Given the description of an element on the screen output the (x, y) to click on. 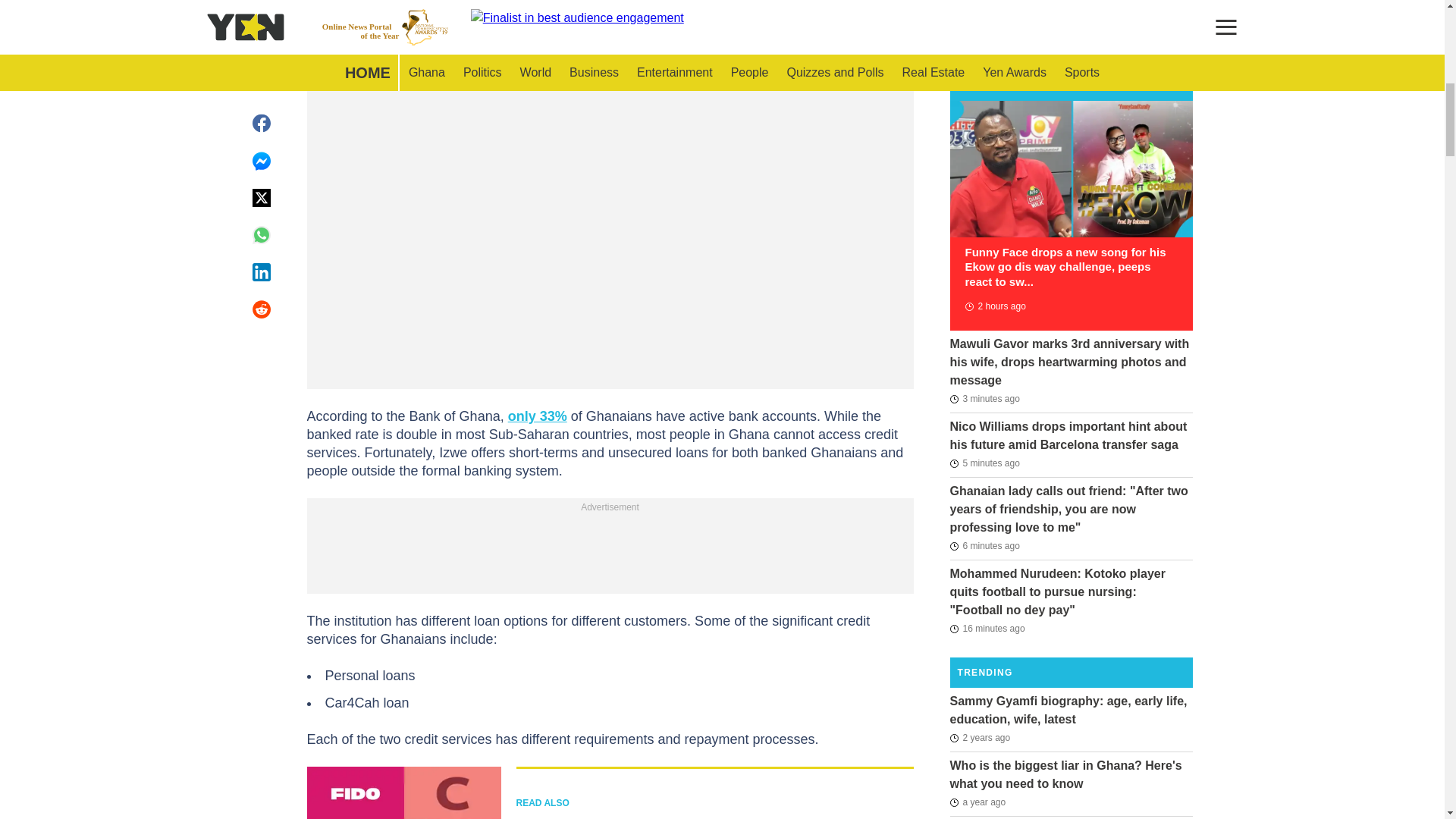
2024-08-06T12:59:35Z (984, 398)
2021-08-13T06:20:04Z (979, 737)
2024-08-06T12:56:13Z (984, 546)
2024-08-06T12:45:59Z (987, 628)
2024-08-06T12:57:06Z (984, 463)
2023-05-29T10:57:19Z (977, 802)
2024-08-06T10:08:08Z (994, 306)
